Given the description of an element on the screen output the (x, y) to click on. 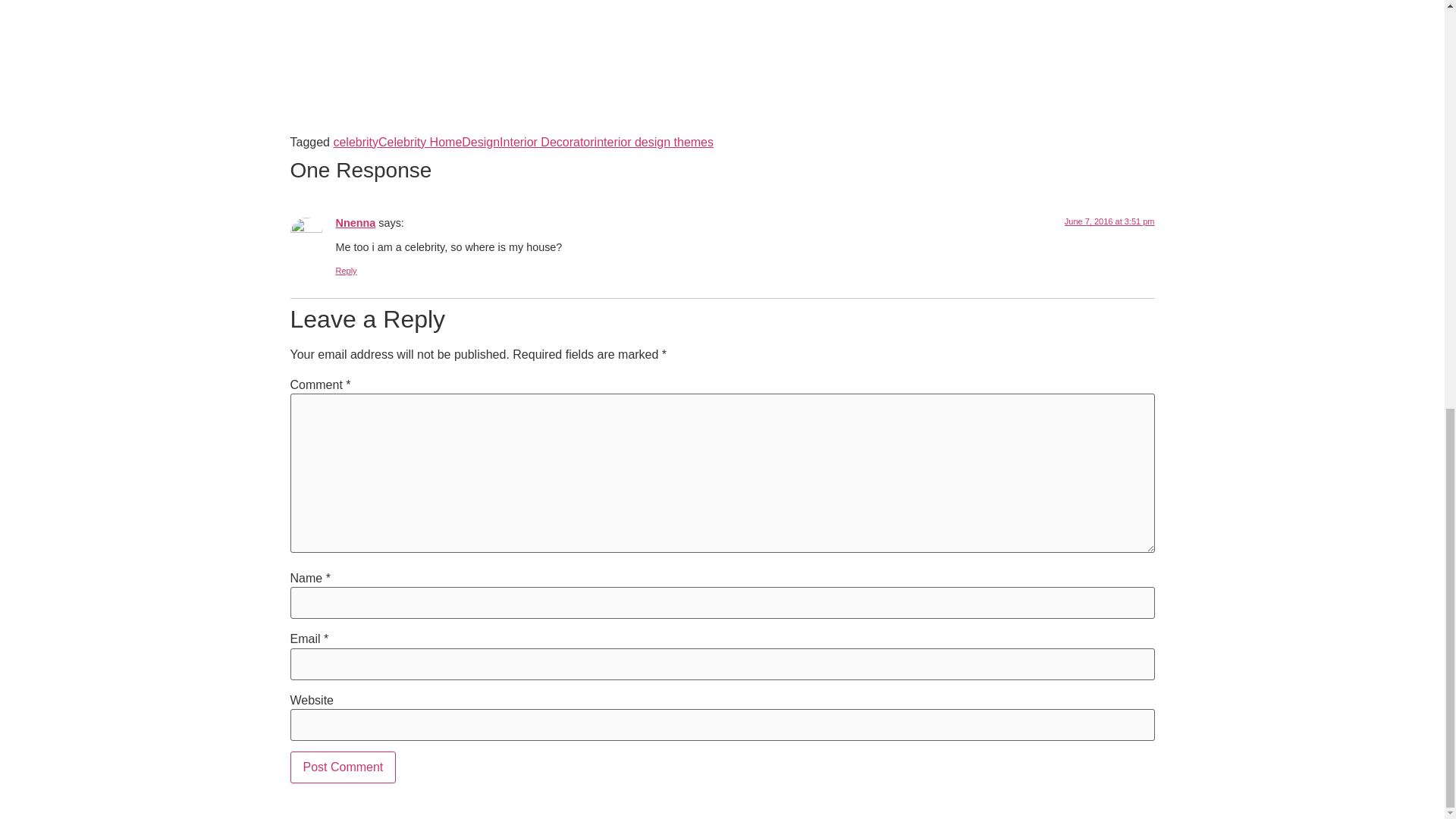
Advertisement (721, 93)
interior design themes (653, 141)
Celebrity Home (419, 141)
Post Comment (342, 766)
celebrity (355, 141)
Interior Decorator (546, 141)
Reply (345, 270)
Design (480, 141)
June 7, 2016 at 3:51 pm (1109, 221)
Advertisement (721, 12)
Post Comment (342, 766)
Nnenna (354, 223)
